Given the description of an element on the screen output the (x, y) to click on. 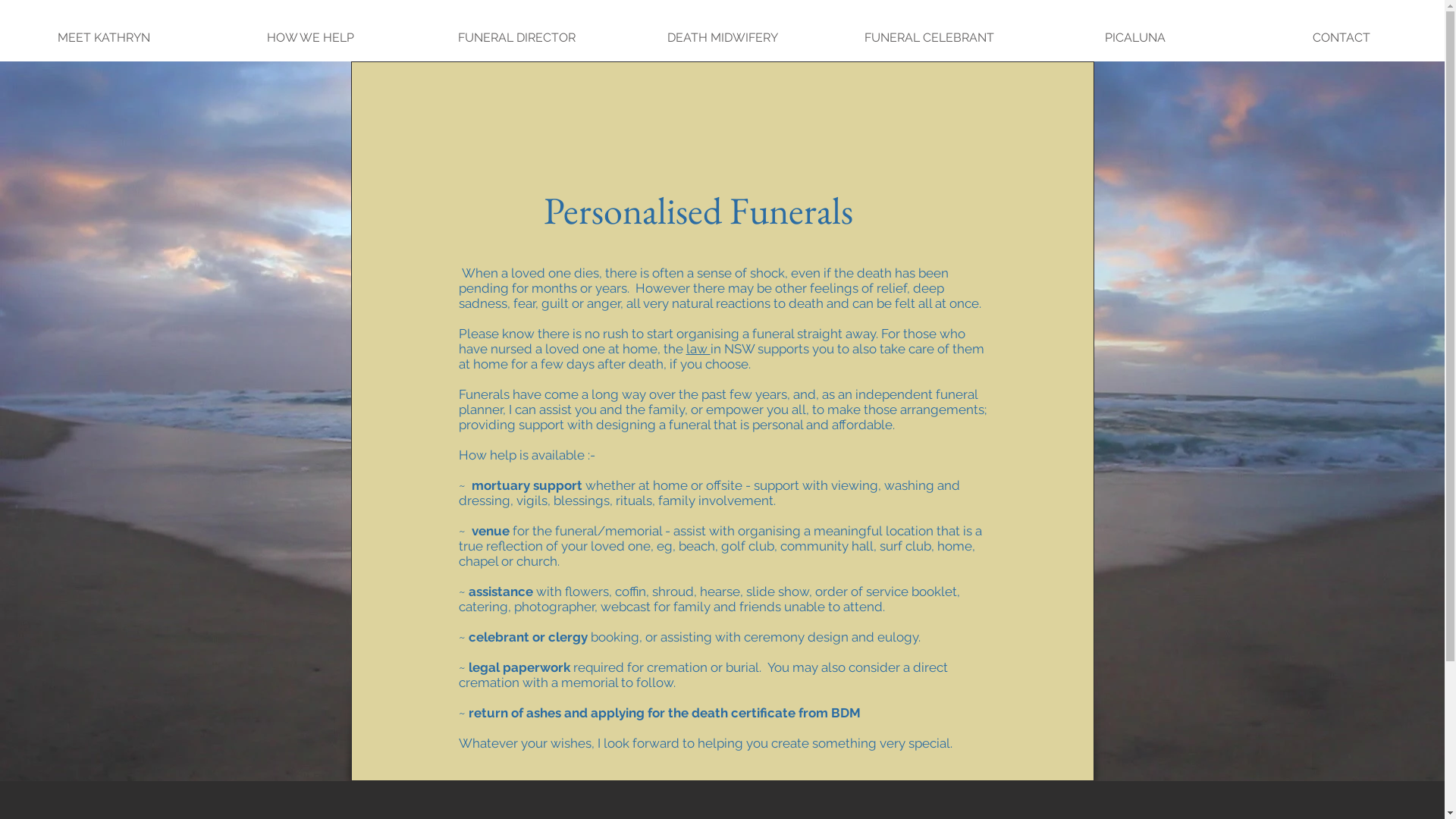
DEATH MIDWIFERY Element type: text (722, 30)
law  Element type: text (697, 348)
FUNERAL DIRECTOR Element type: text (516, 30)
PICALUNA Element type: text (1135, 30)
HOW WE HELP Element type: text (310, 30)
FUNERAL CELEBRANT Element type: text (928, 30)
MEET KATHRYN Element type: text (103, 30)
CONTACT Element type: text (1341, 30)
